Given the description of an element on the screen output the (x, y) to click on. 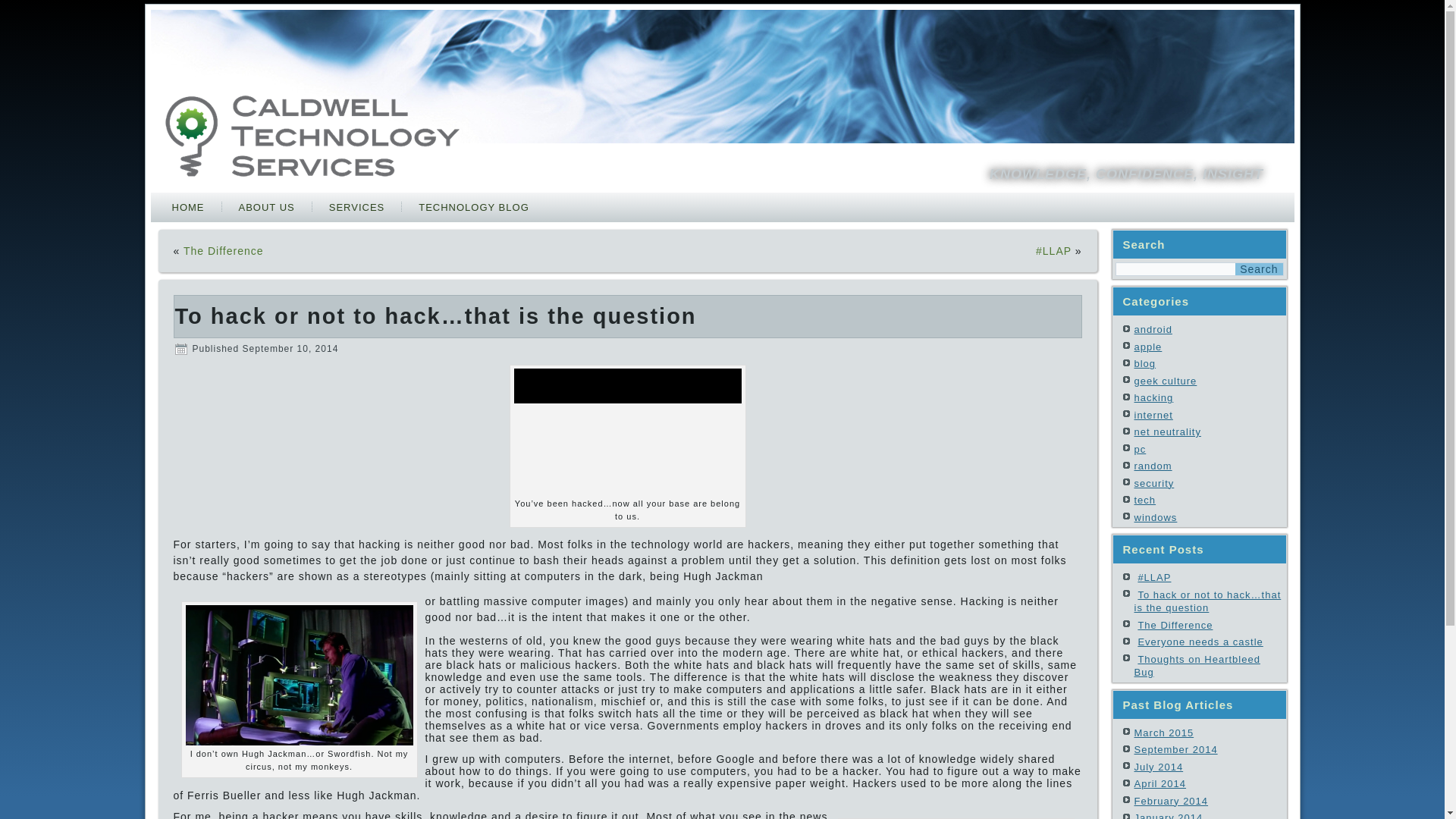
Search (1258, 268)
The Difference (1174, 624)
ABOUT US (265, 207)
android (1153, 328)
Everyone needs a castle (1199, 641)
security (1154, 482)
TECHNOLOGY BLOG (473, 207)
Services (356, 207)
About Us (265, 207)
net neutrality (1167, 431)
